Given the description of an element on the screen output the (x, y) to click on. 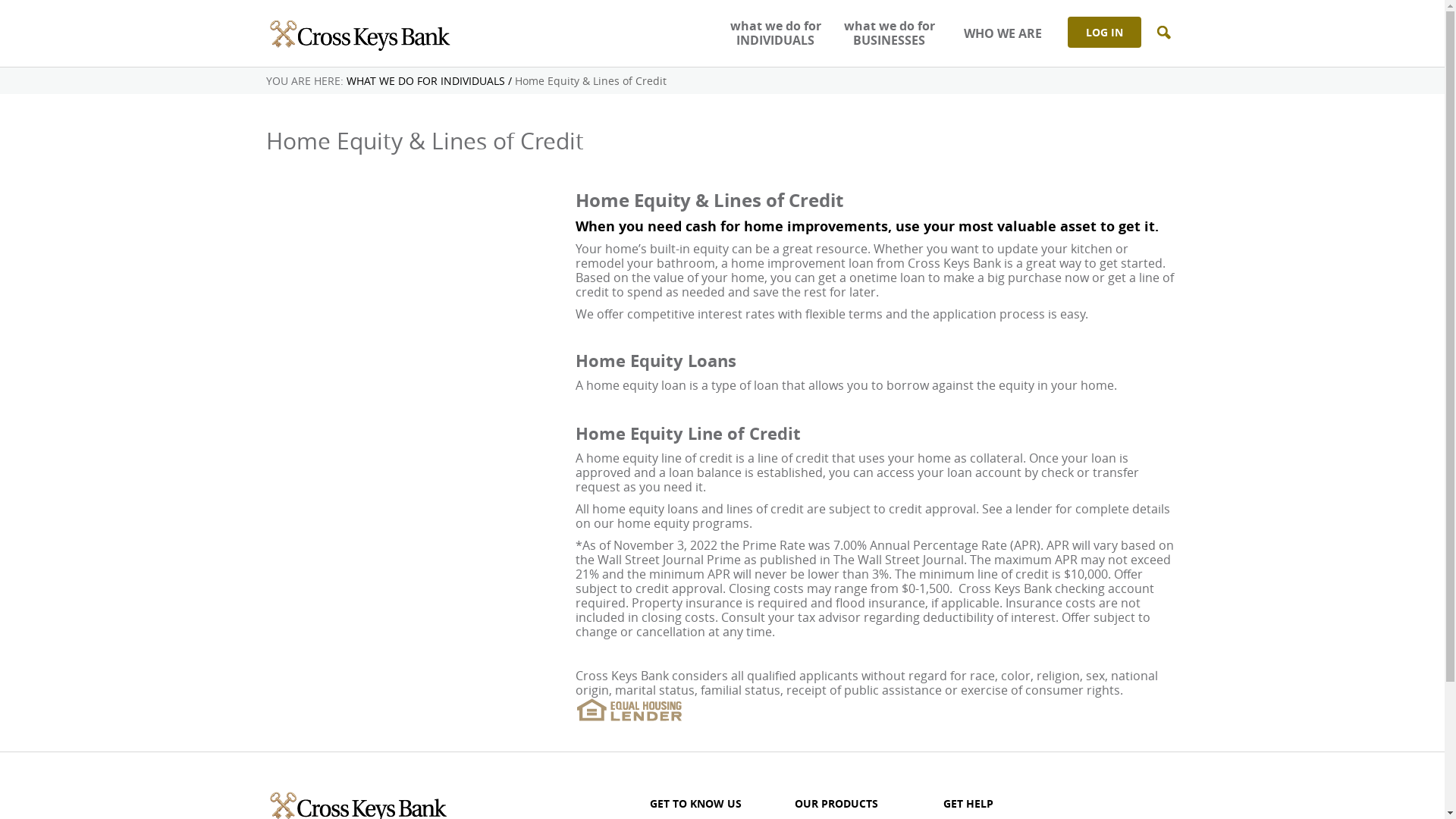
Search icon mobile Element type: text (1163, 32)
Cross Keys Bank Element type: text (358, 33)
LOG IN Element type: text (1104, 31)
